Given the description of an element on the screen output the (x, y) to click on. 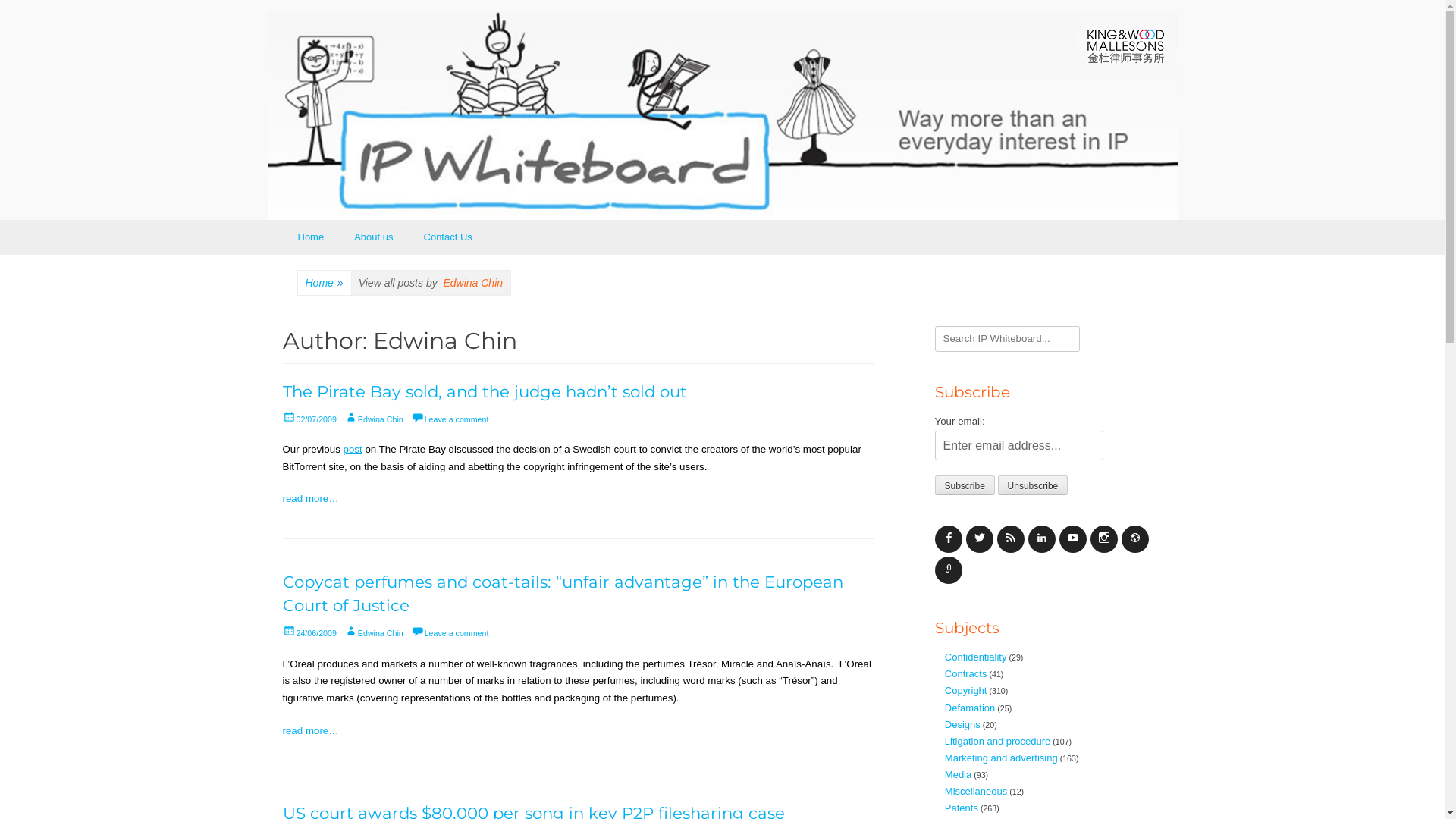
Facebook Element type: text (947, 538)
LinkedIn Element type: text (1041, 538)
post Element type: text (352, 449)
Edwina Chin Element type: text (373, 418)
Defamation Element type: text (969, 707)
Designs Element type: text (962, 724)
Patents Element type: text (961, 807)
Search Element type: text (24, 9)
Leave a comment Element type: text (450, 632)
Home Element type: text (310, 236)
YouTube Element type: text (1071, 538)
Marketing and advertising Element type: text (1000, 757)
Twitter Element type: text (979, 538)
Leave a comment Element type: text (450, 418)
02/07/2009 Element type: text (308, 418)
Subscribe Element type: text (964, 485)
Instagram Element type: text (1103, 538)
Copyright Element type: text (965, 690)
Contact Us Element type: text (447, 236)
Litigation and procedure Element type: text (997, 740)
24/06/2009 Element type: text (308, 632)
Link Element type: text (947, 569)
Unsubscribe Element type: text (1032, 485)
Feed Element type: text (1009, 538)
About us Element type: text (372, 236)
Search for: Element type: hover (1006, 339)
Website Element type: text (1134, 538)
Confidentiality Element type: text (975, 656)
Edwina Chin Element type: text (373, 632)
Contracts Element type: text (965, 673)
Miscellaneous Element type: text (975, 791)
Media Element type: text (957, 774)
